Given the description of an element on the screen output the (x, y) to click on. 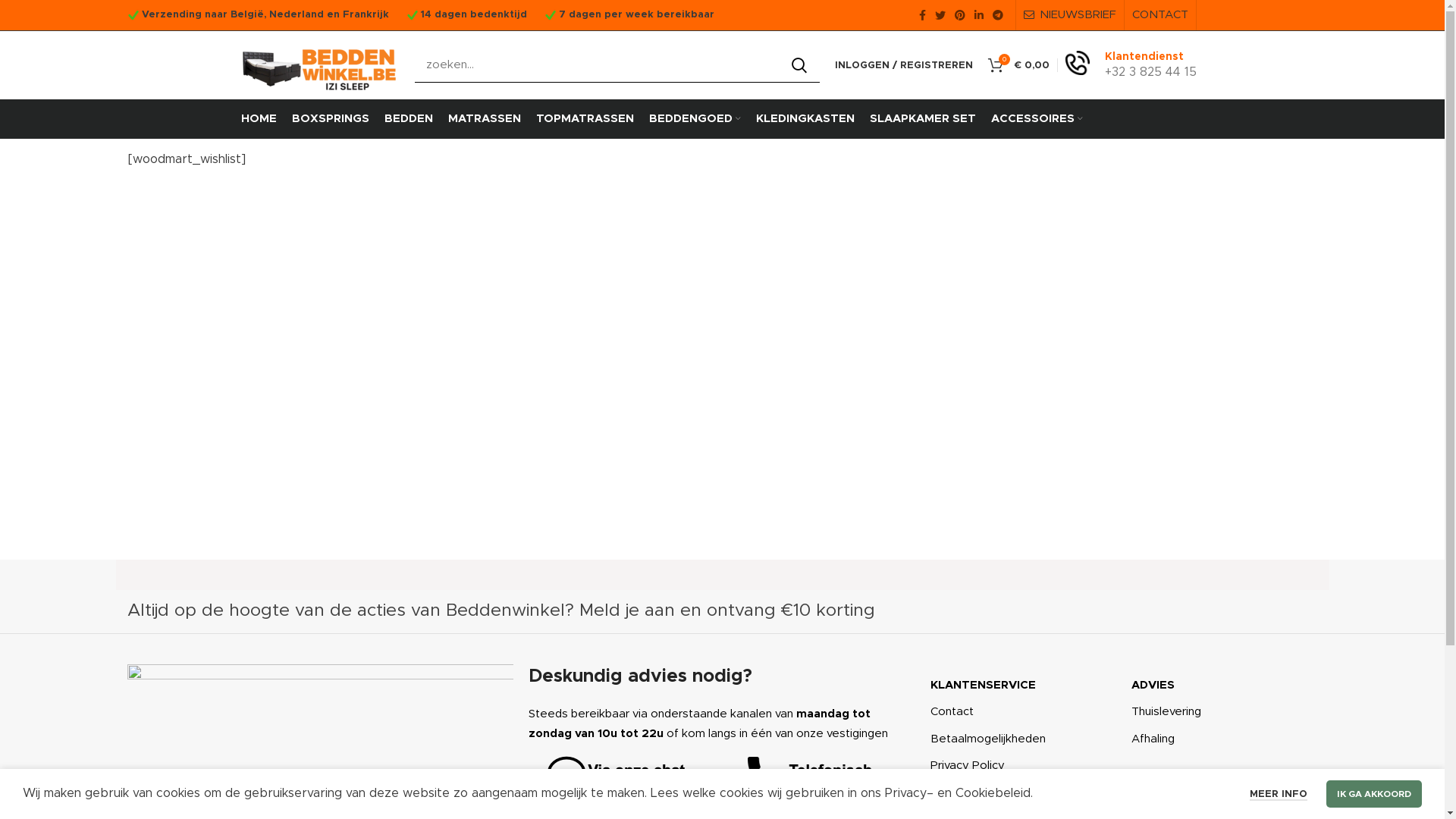
TOPMATRASSEN Element type: text (583, 118)
MEER INFO Element type: text (1278, 794)
NIEUWSBRIEF Element type: text (1069, 15)
INLOGGEN / REGISTREREN Element type: text (902, 65)
ADVIES Element type: text (1224, 685)
KLEDINGKASTEN Element type: text (804, 118)
Afhaling Element type: text (1224, 739)
ACCESSOIRES Element type: text (1035, 118)
CONTACT Element type: text (1159, 15)
Klantendienst
+32 3 825 44 15 Element type: text (1129, 65)
Thuislevering Element type: text (1224, 711)
HOME Element type: text (258, 118)
SLAAPKAMER SET Element type: text (921, 118)
SEARCH Element type: text (798, 64)
MATRASSEN Element type: text (483, 118)
BEDDENGOED Element type: text (694, 118)
zoeken... Element type: hover (616, 64)
BEDDEN Element type: text (407, 118)
Omruilgarantie Element type: text (1023, 792)
Privacy Policy Element type: text (1023, 765)
BOXSPRINGS Element type: text (329, 118)
KLANTENSERVICE Element type: text (1023, 685)
Betaalmogelijkheden Element type: text (1023, 739)
IK GA AKKOORD Element type: text (1373, 793)
Contact Element type: text (1023, 711)
